Given the description of an element on the screen output the (x, y) to click on. 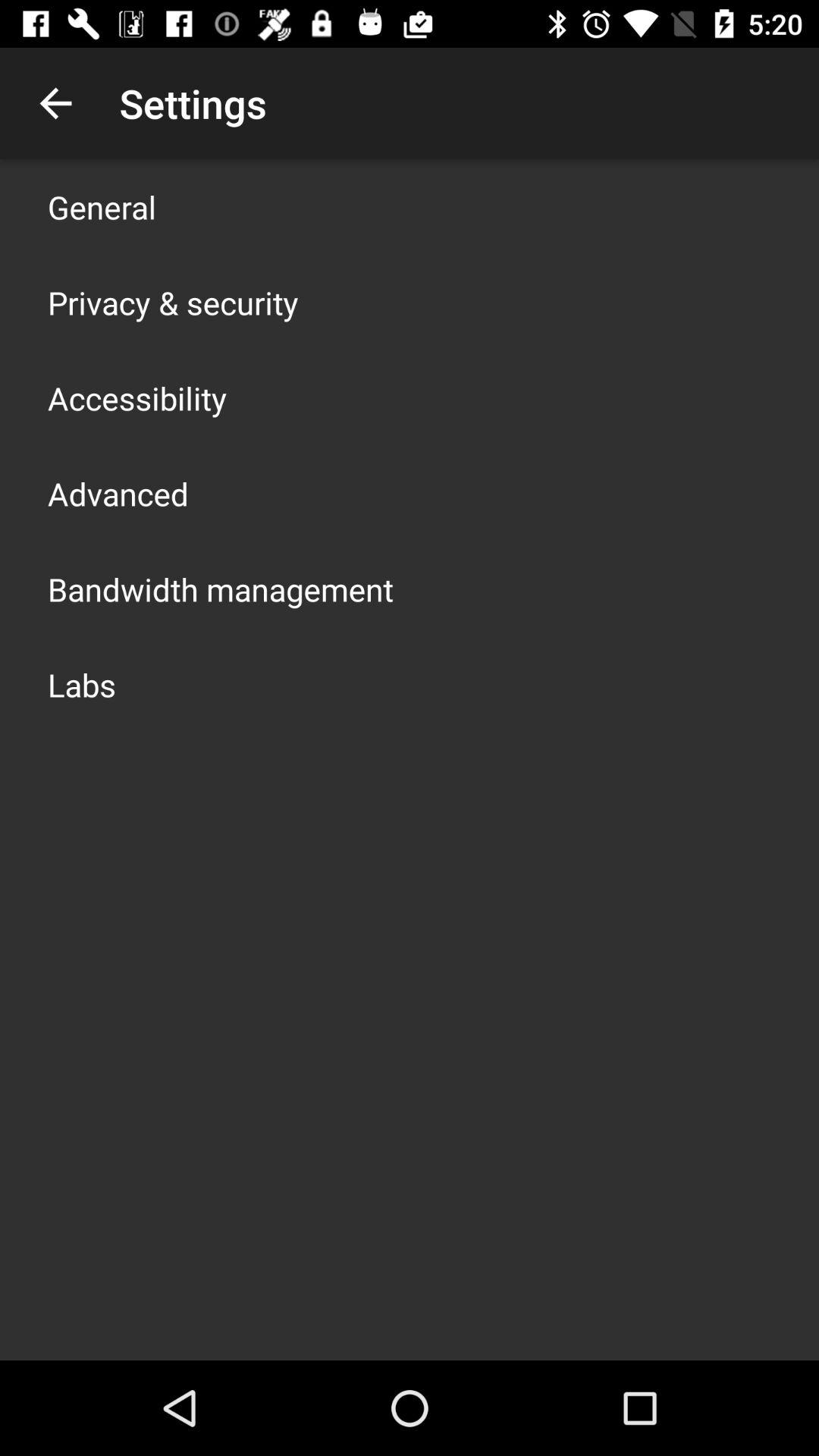
flip until labs icon (81, 684)
